Given the description of an element on the screen output the (x, y) to click on. 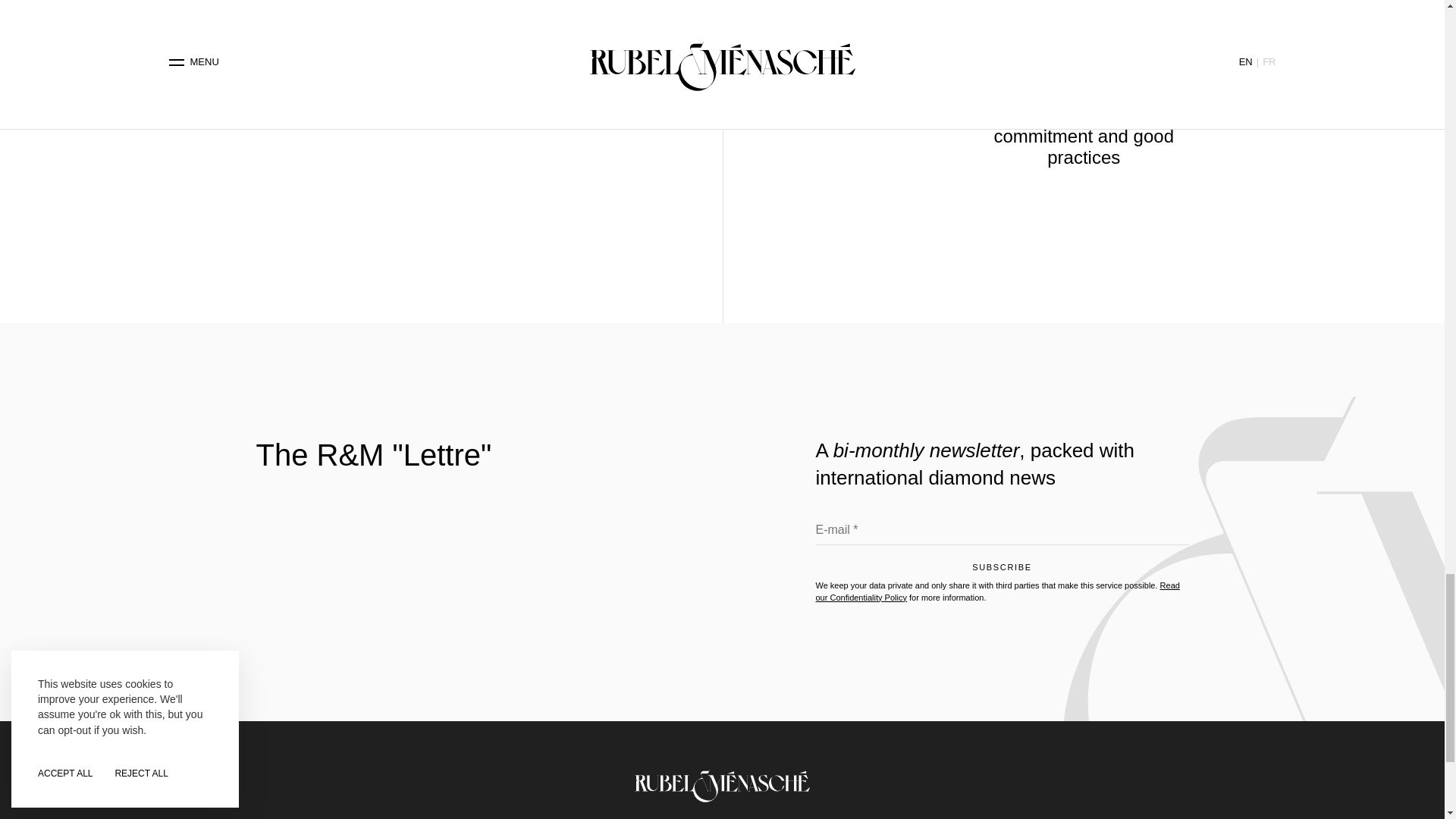
Read our Confidentiality Policy (997, 590)
Subscribe (1002, 570)
E-mail (1002, 533)
Subscribe (1002, 570)
